Given the description of an element on the screen output the (x, y) to click on. 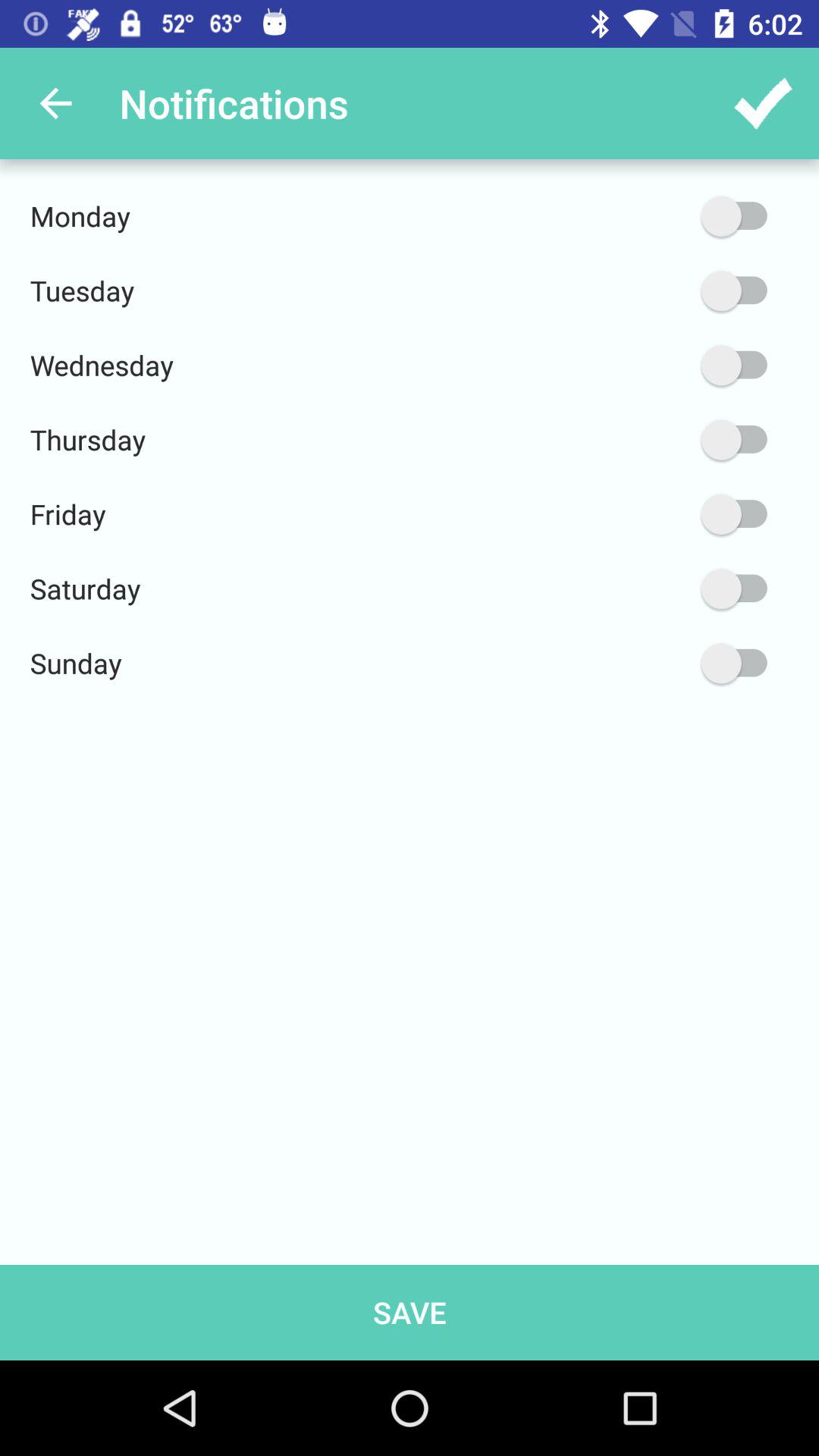
open the item to the right of sunday icon (661, 663)
